Given the description of an element on the screen output the (x, y) to click on. 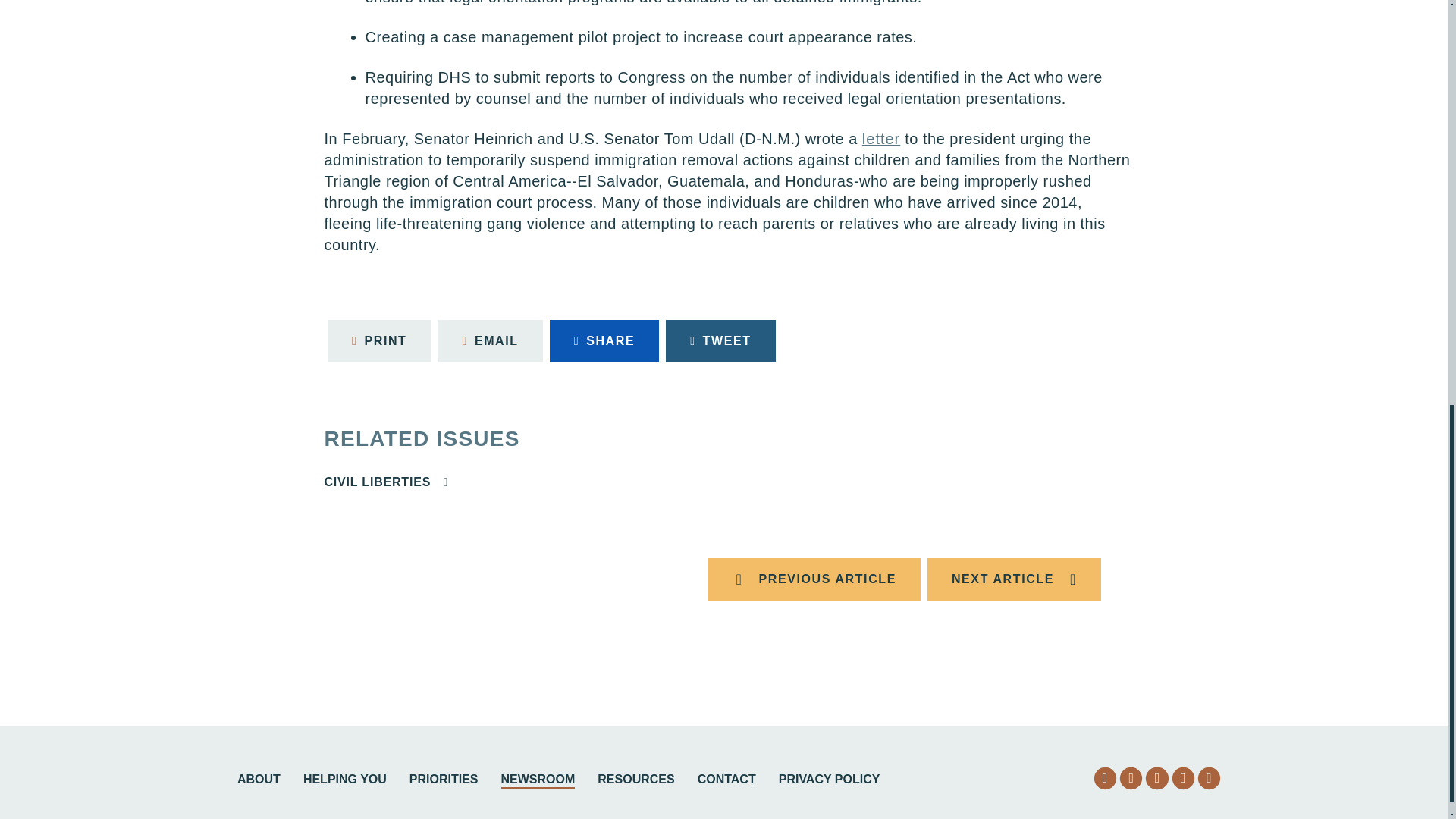
Privacy Policy (829, 780)
About (259, 780)
Helping You (344, 780)
Priorities (444, 780)
Newsroom (537, 780)
Resources (635, 780)
Contact (726, 780)
